Given the description of an element on the screen output the (x, y) to click on. 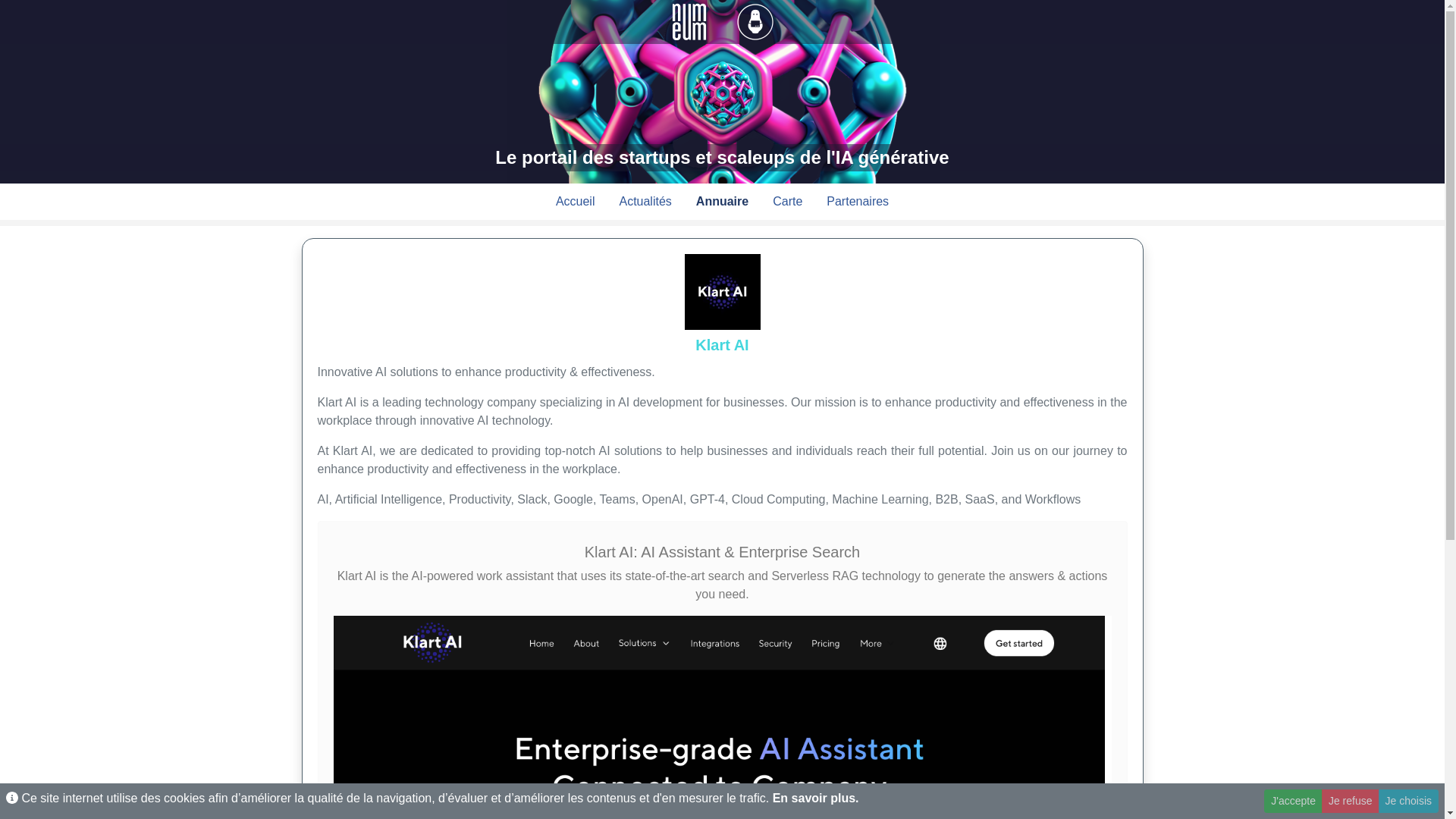
Accueil (575, 201)
J'accepte (1292, 801)
Carte (787, 201)
En savoir plus. (816, 797)
Partenaires (858, 201)
Annuaire (722, 201)
Accueil (575, 201)
Motherbase by U Change (754, 20)
Annuaire (722, 201)
Motherbase.ai (722, 93)
